Given the description of an element on the screen output the (x, y) to click on. 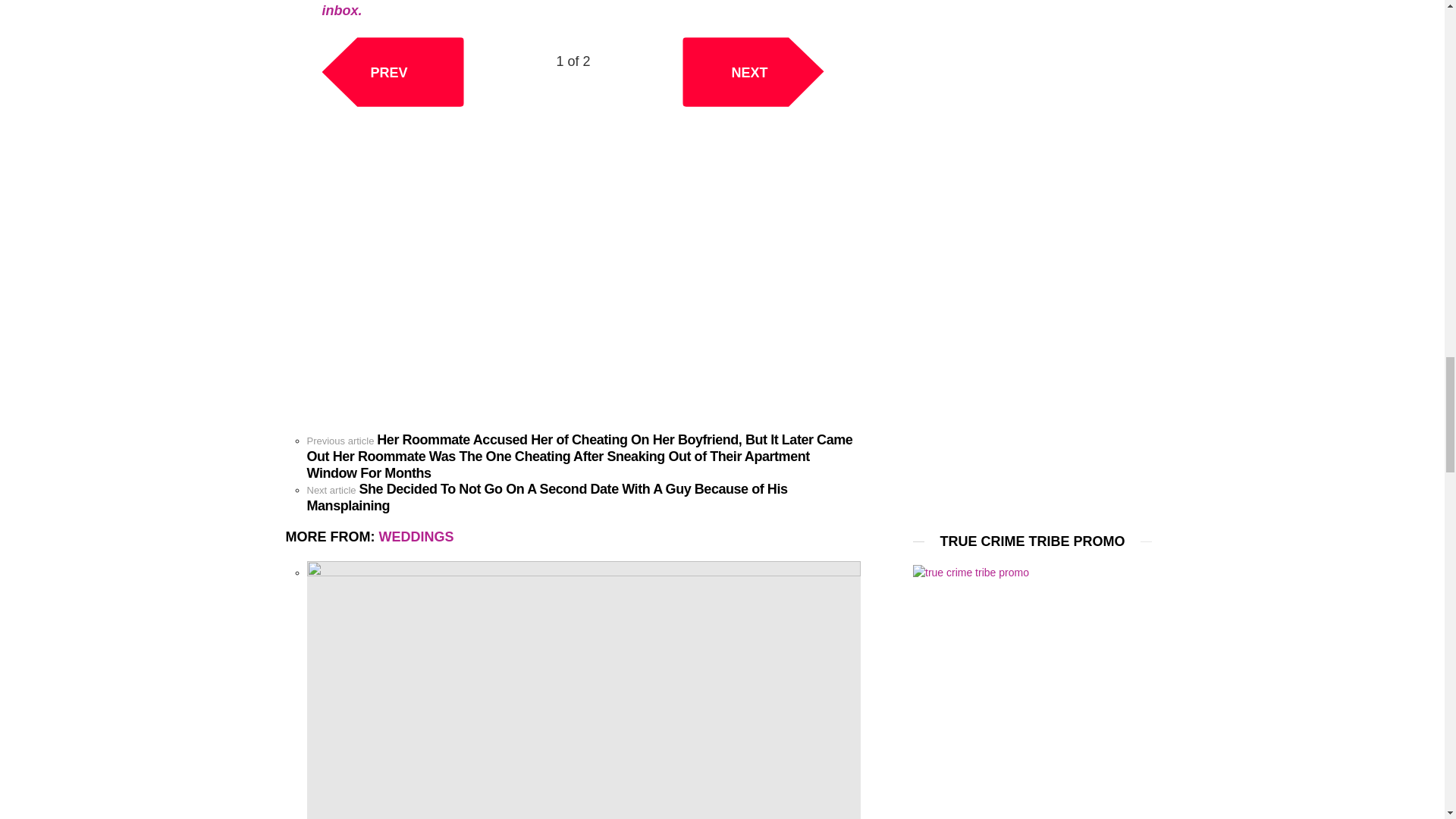
NEXT (753, 71)
PREV (392, 71)
